Given the description of an element on the screen output the (x, y) to click on. 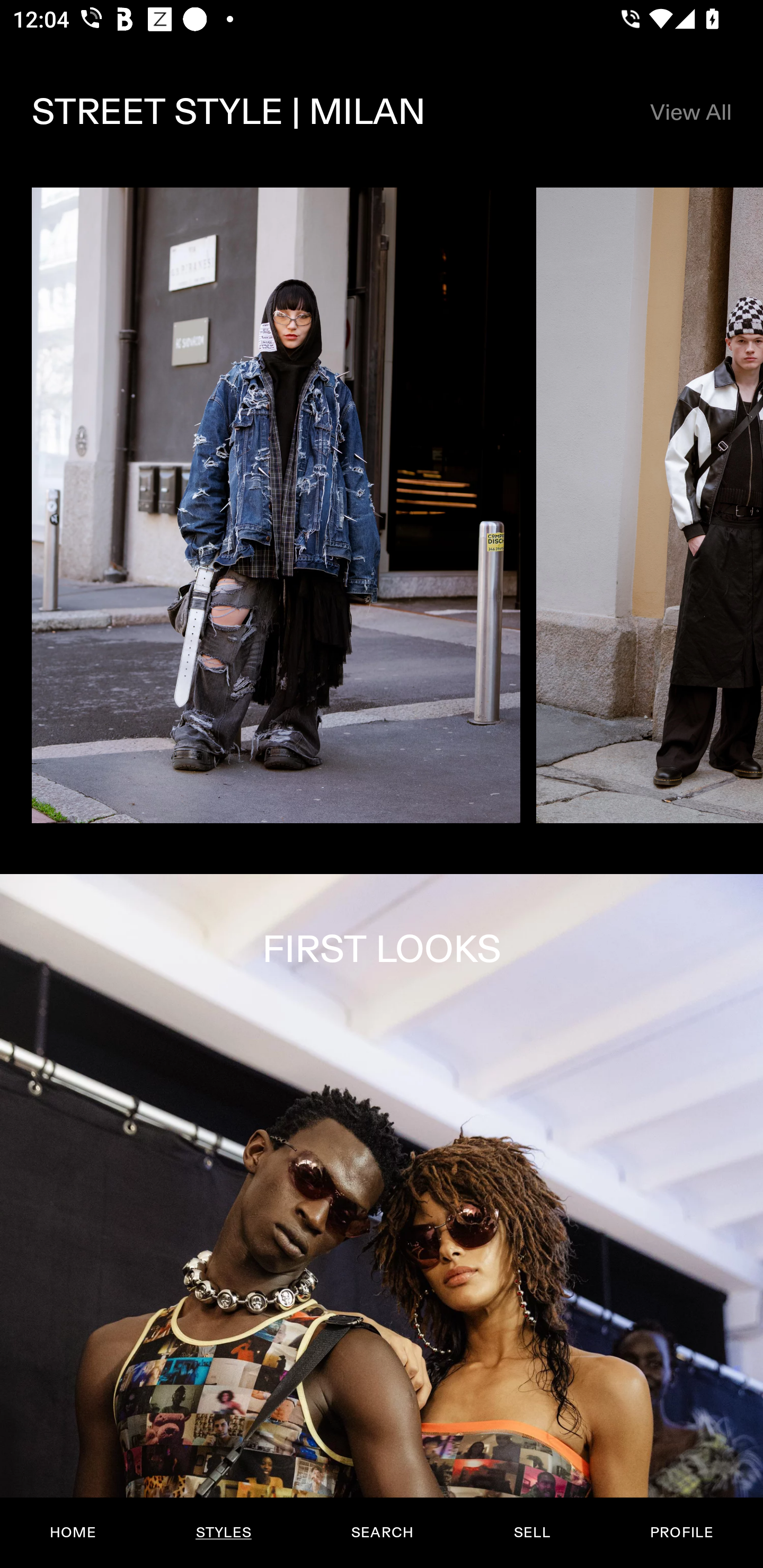
View All (690, 112)
FIRST LOOKS DIESEL FALL '24 (381, 1220)
HOME (72, 1532)
STYLES (222, 1532)
SEARCH (381, 1532)
SELL (531, 1532)
PROFILE (681, 1532)
